Given the description of an element on the screen output the (x, y) to click on. 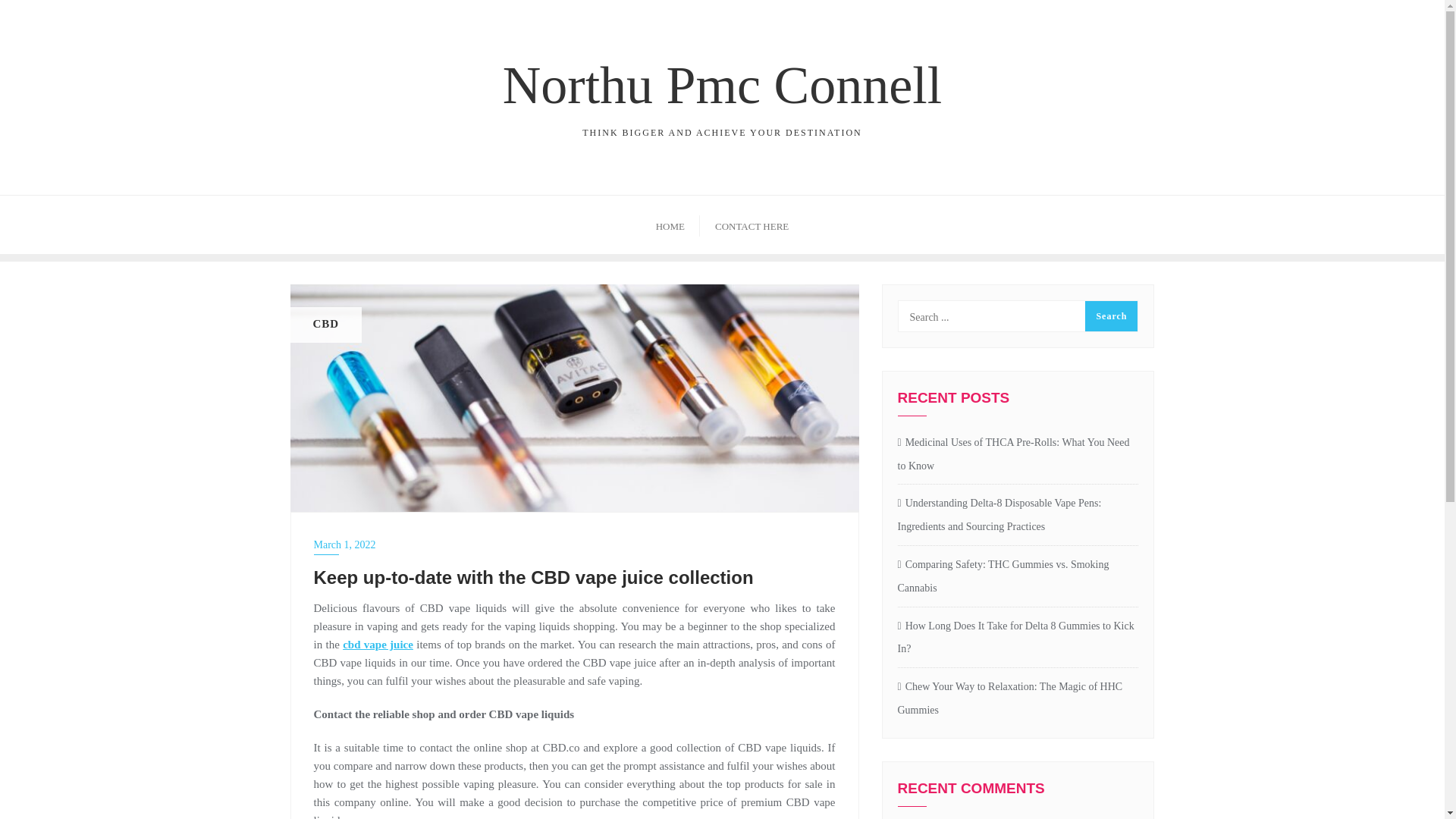
Search (1110, 316)
March 1, 2022 (574, 544)
Comparing Safety: THC Gummies vs. Smoking Cannabis (1018, 576)
Keep up-to-date with the CBD vape juice collection (574, 397)
Chew Your Way to Relaxation: The Magic of HHC Gummies (722, 93)
HOME (1018, 698)
Medicinal Uses of THCA Pre-Rolls: What You Need to Know (670, 224)
cbd vape juice (1018, 454)
Search (377, 644)
How Long Does It Take for Delta 8 Gummies to Kick In? (1110, 316)
CONTACT HERE (1018, 638)
Search (751, 224)
